Given the description of an element on the screen output the (x, y) to click on. 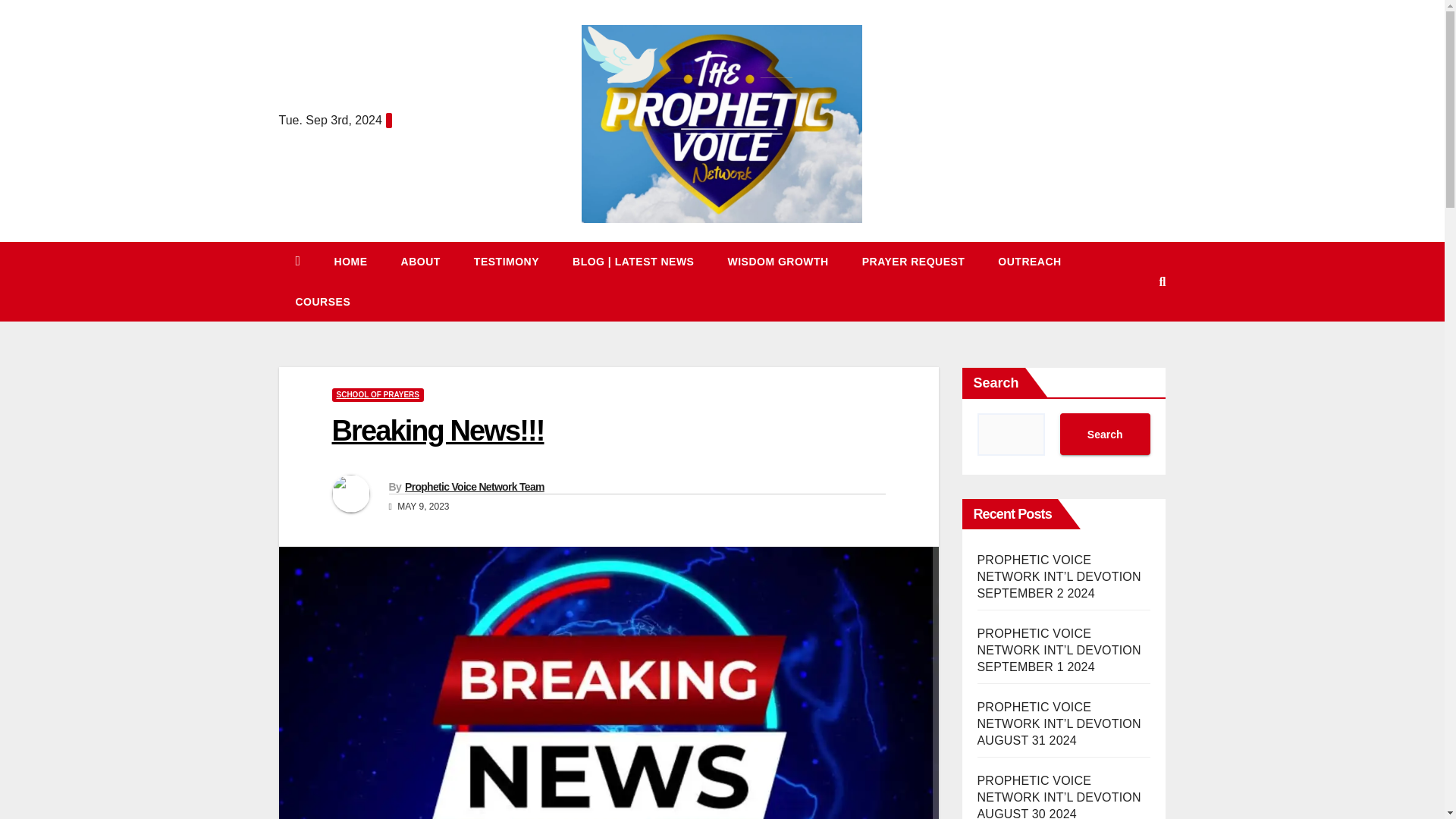
Outreach (1029, 261)
WISDOM GROWTH (777, 261)
Testimony (506, 261)
COURSES (323, 301)
About (420, 261)
Home (350, 261)
ABOUT (420, 261)
Wisdom Growth (777, 261)
Breaking News!!! (437, 430)
HOME (350, 261)
